Given the description of an element on the screen output the (x, y) to click on. 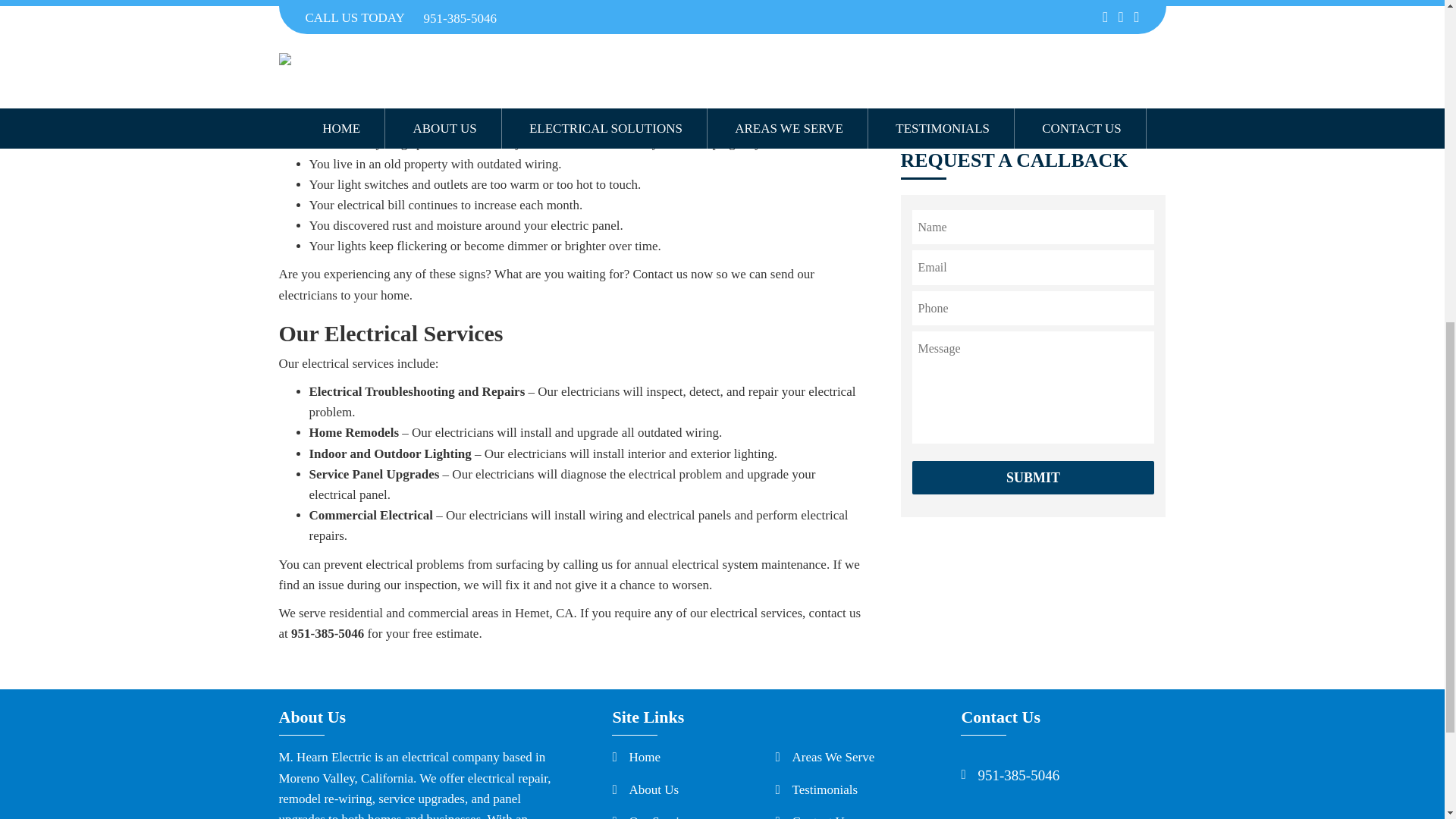
Testimonials (824, 789)
Submit (1032, 478)
Home (644, 757)
Submit (1032, 478)
951-385-5046 (1017, 774)
About Us (653, 789)
Areas We Serve (833, 757)
View Detail (1016, 6)
View Detail (1016, 90)
